Given the description of an element on the screen output the (x, y) to click on. 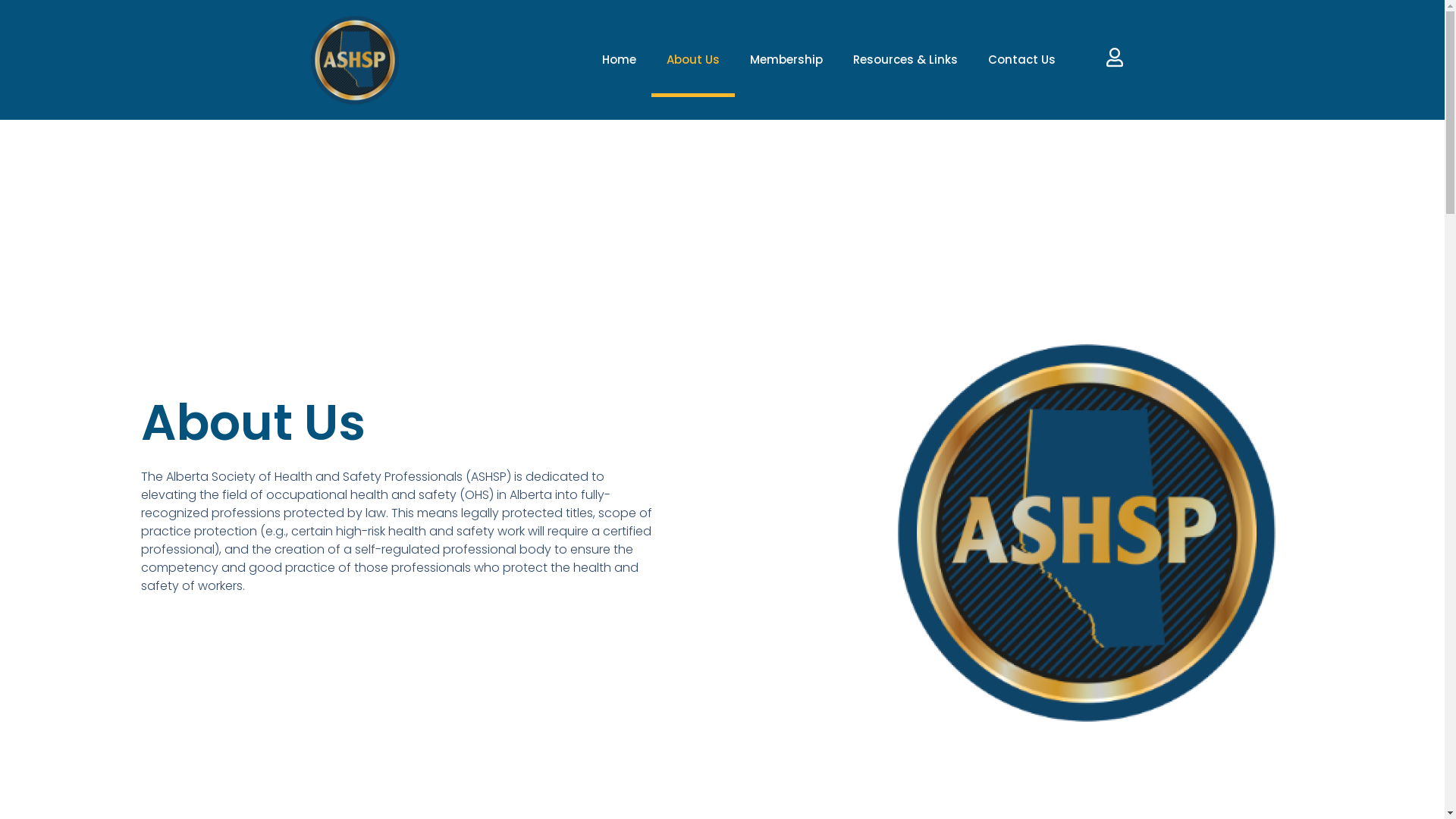
Membership Element type: text (785, 59)
Contact Us Element type: text (1021, 59)
Home Element type: text (618, 59)
Resources & Links Element type: text (904, 59)
About Us Element type: text (692, 59)
